Given the description of an element on the screen output the (x, y) to click on. 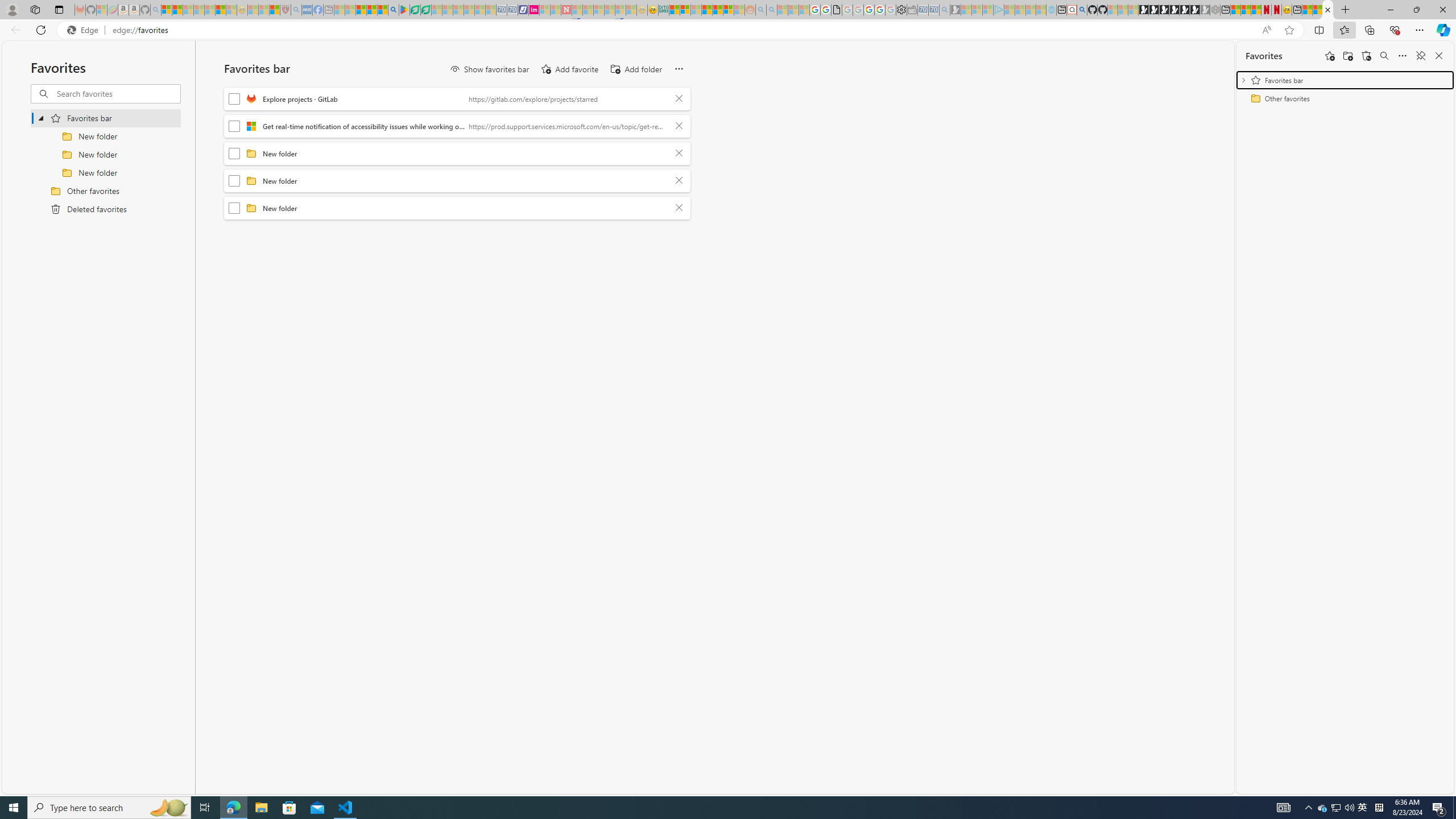
Search favorites (1383, 55)
